Given the description of an element on the screen output the (x, y) to click on. 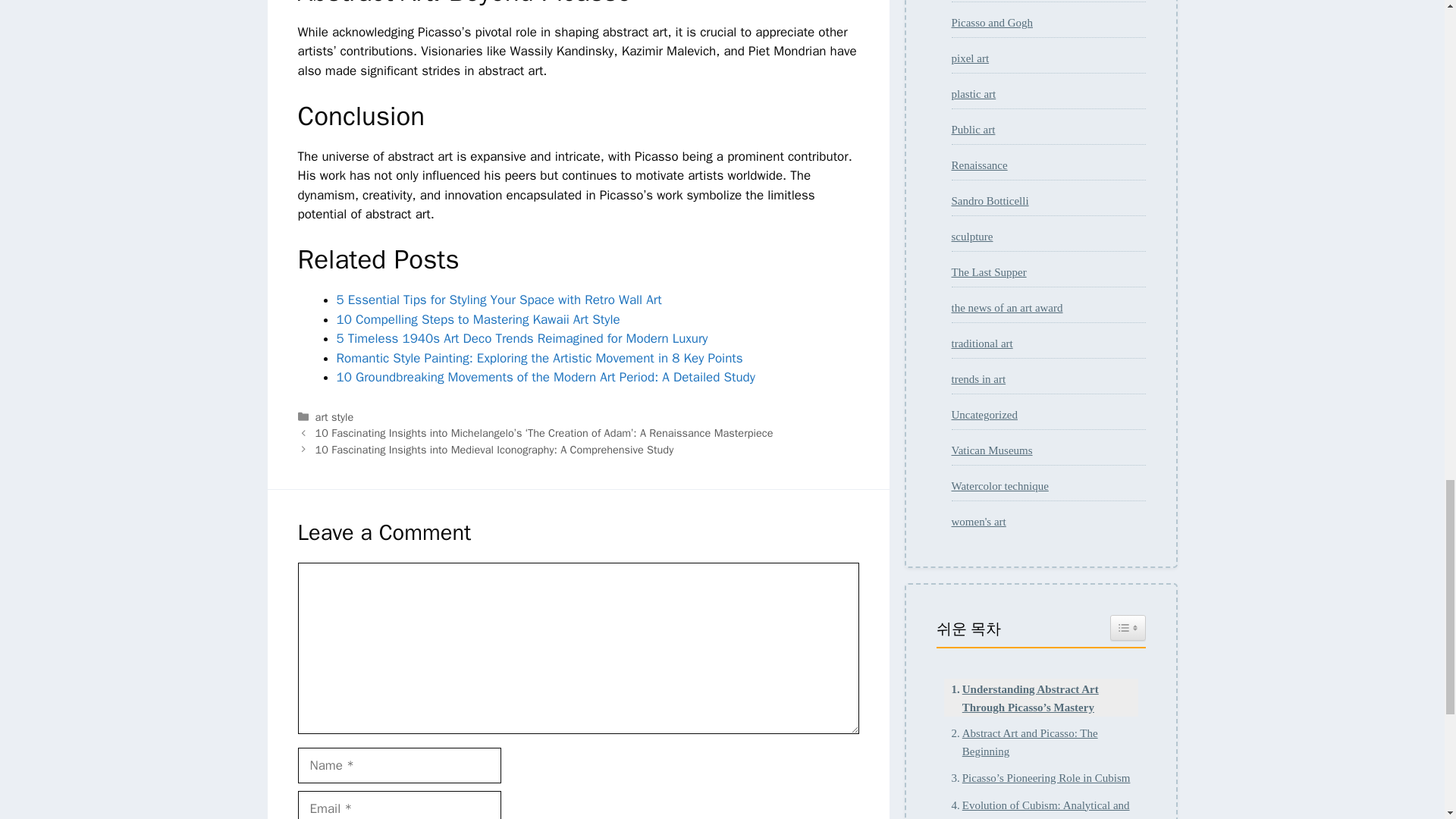
10 Compelling Steps to Mastering Kawaii Art Style (478, 319)
Abstract Art and Picasso: The Beginning (1040, 741)
art style (334, 417)
Evolution of Cubism: Analytical and Synthetic (1040, 807)
5 Essential Tips for Styling Your Space with Retro Wall Art (499, 299)
